Given the description of an element on the screen output the (x, y) to click on. 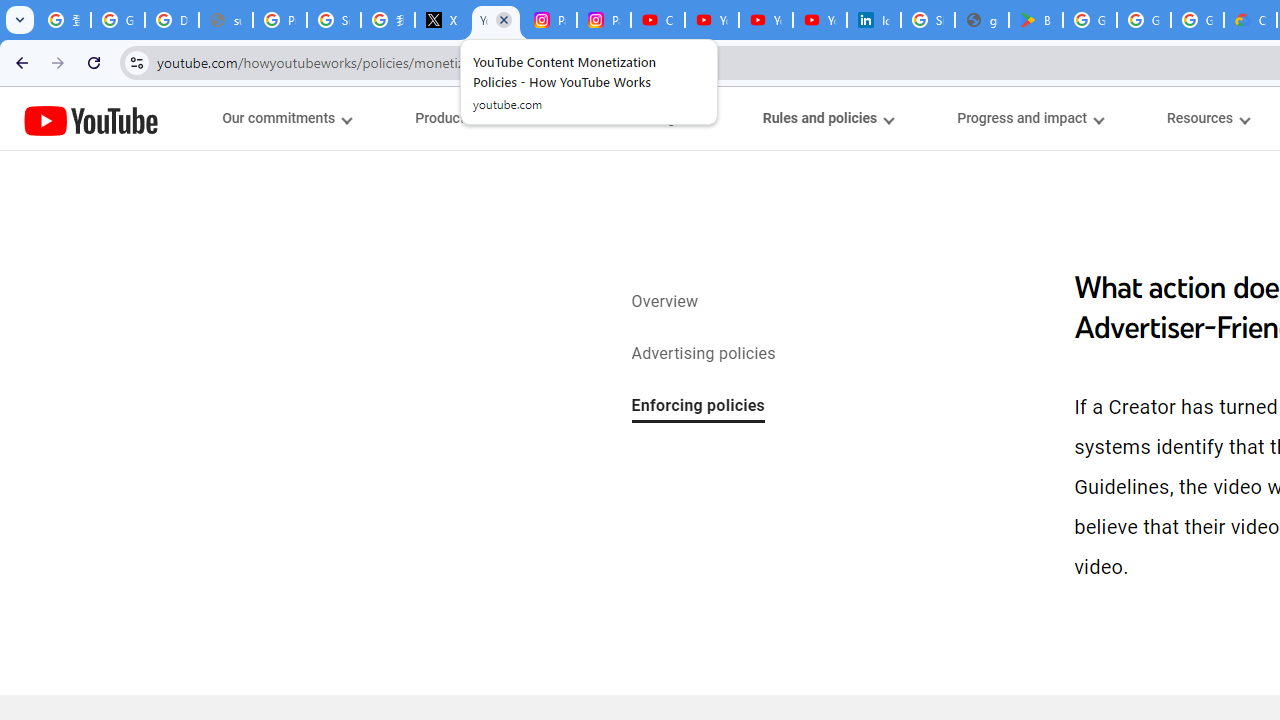
YouTube (91, 120)
Resources menupopup (1208, 118)
JUMP TO CONTENT (209, 119)
Enforcing policies (698, 407)
Advertising policies (703, 354)
Google Workspace - Specific Terms (1197, 20)
Our commitments menupopup (286, 118)
